Given the description of an element on the screen output the (x, y) to click on. 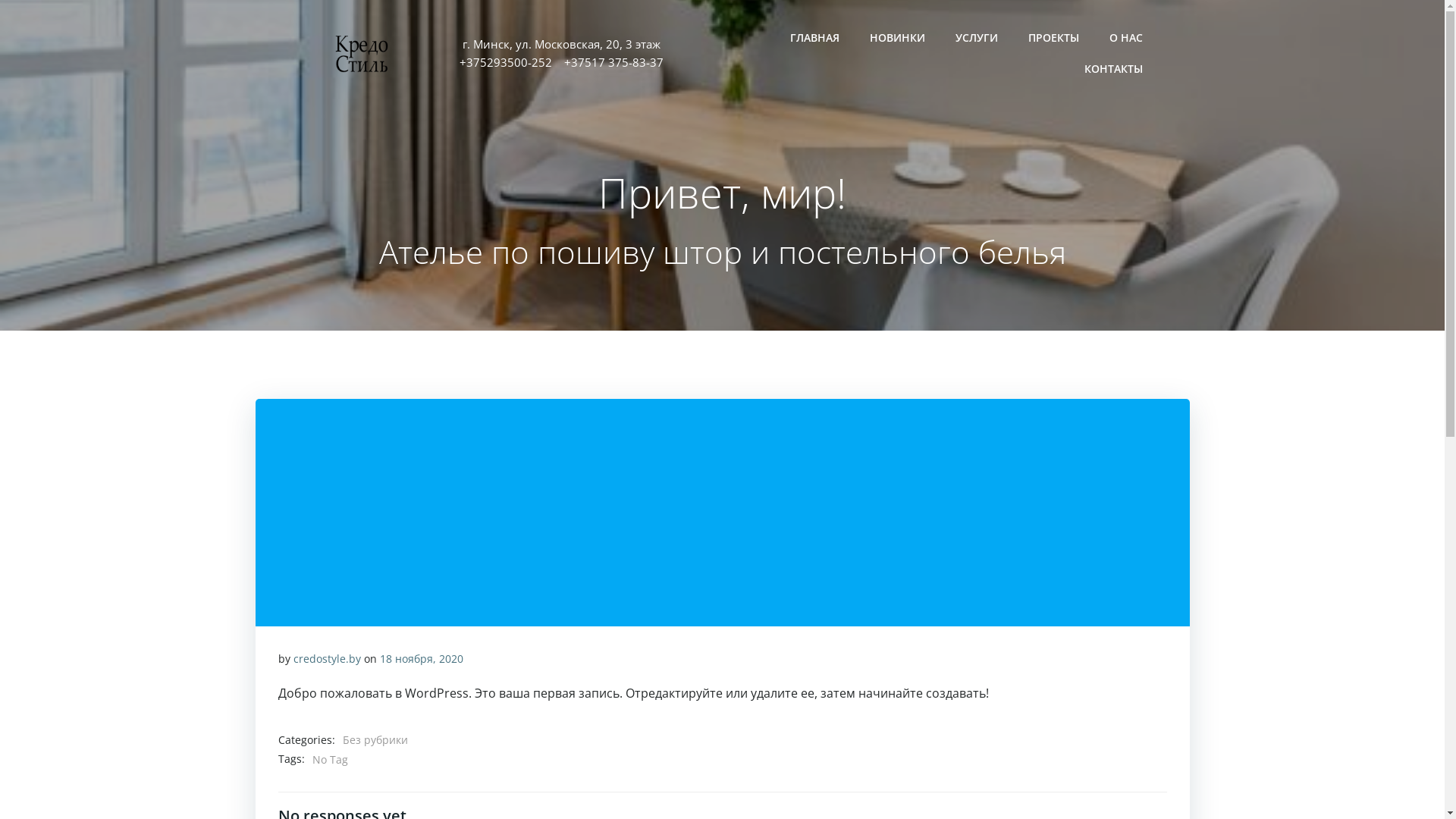
credostyle.by Element type: text (326, 658)
Colibri Element type: text (932, 773)
